Given the description of an element on the screen output the (x, y) to click on. 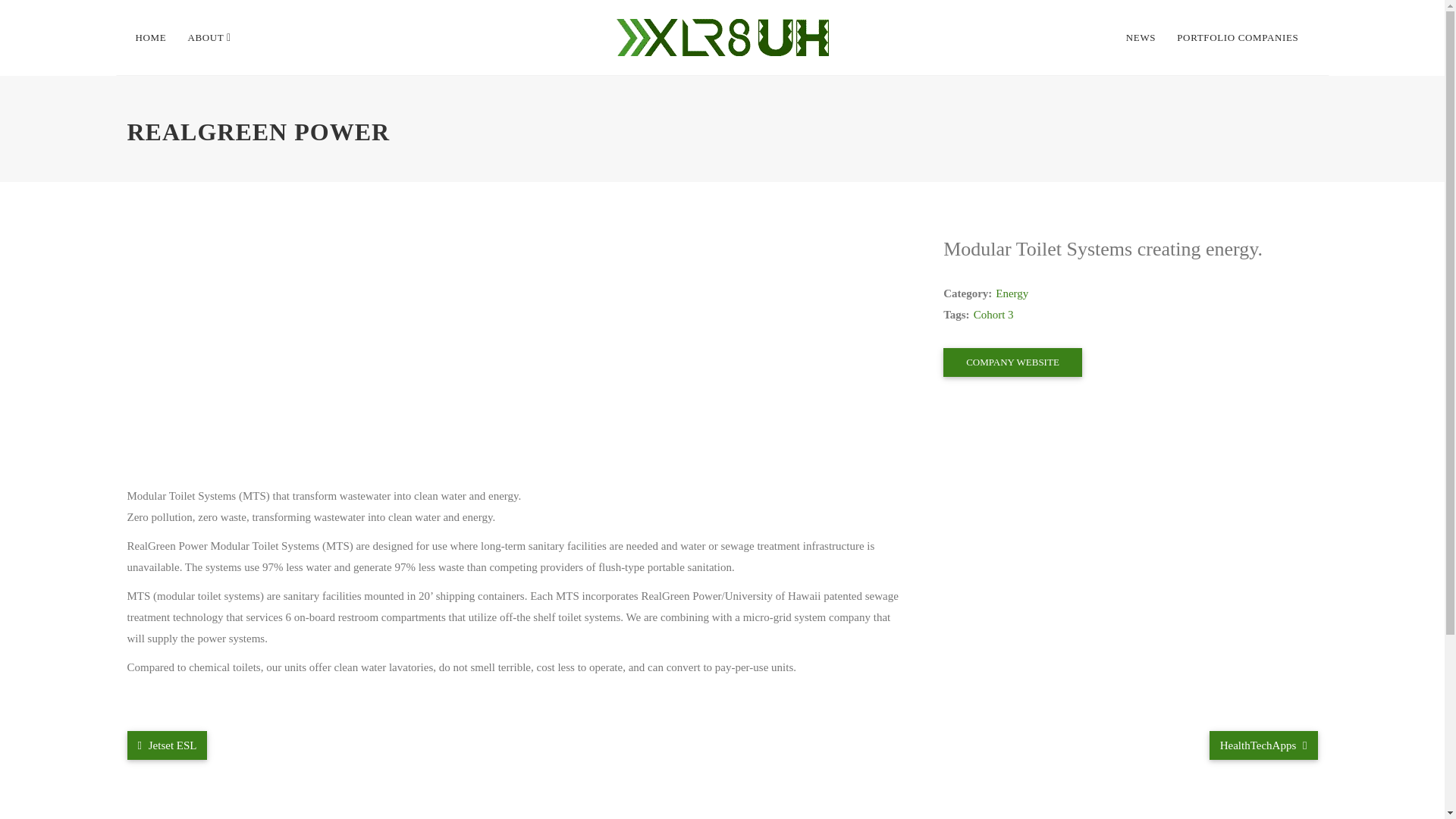
HealthTechApps (1263, 745)
COMPANY WEBSITE (1012, 362)
Energy (1011, 293)
XLR8UH - Accelerating Hawaii's innovation and entrepreneurs (722, 38)
Jetset ESL (168, 745)
PORTFOLIO COMPANIES (1237, 38)
Cohort 3 (993, 314)
